Given the description of an element on the screen output the (x, y) to click on. 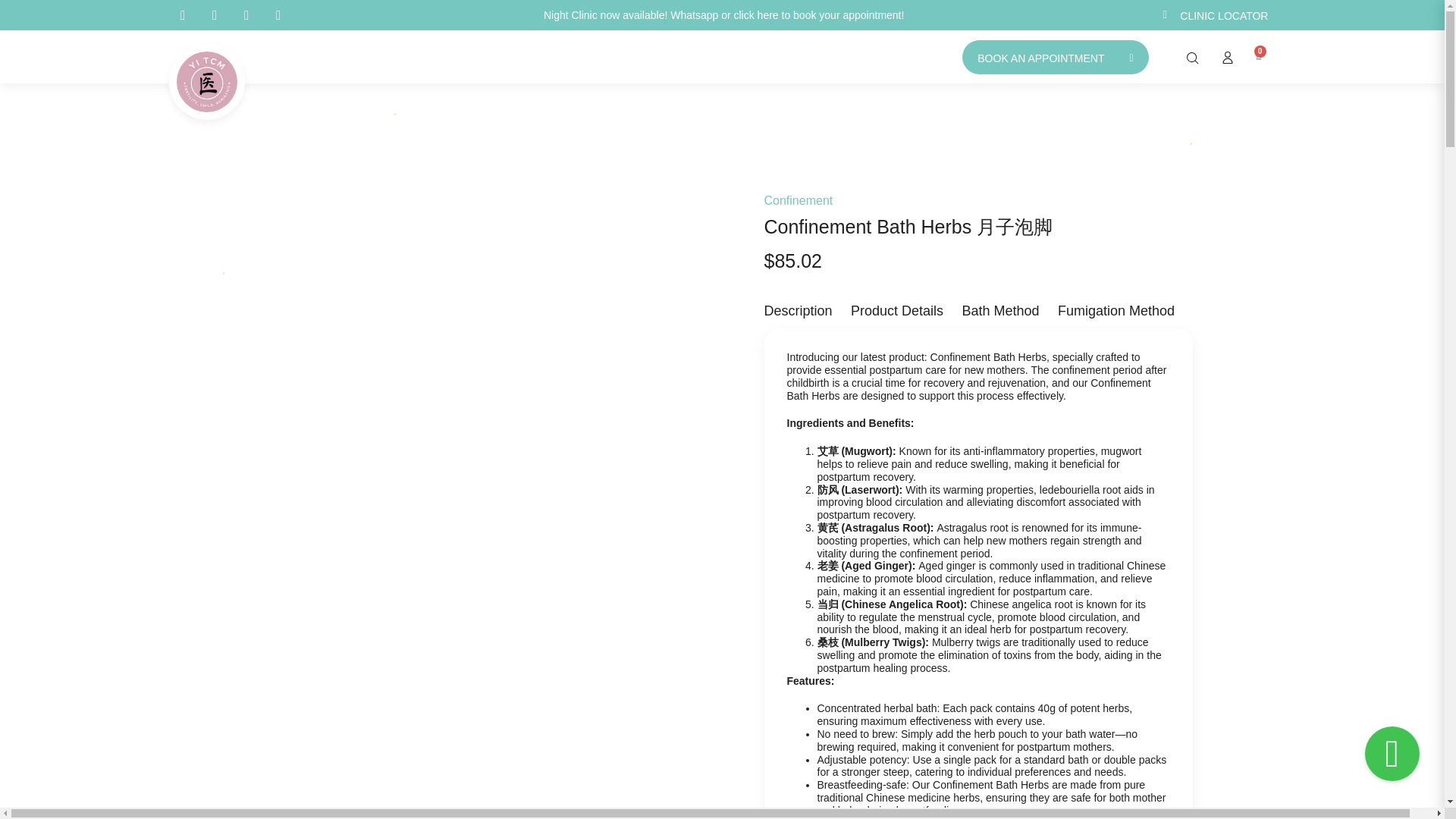
CLINIC LOCATOR (1215, 15)
